Given the description of an element on the screen output the (x, y) to click on. 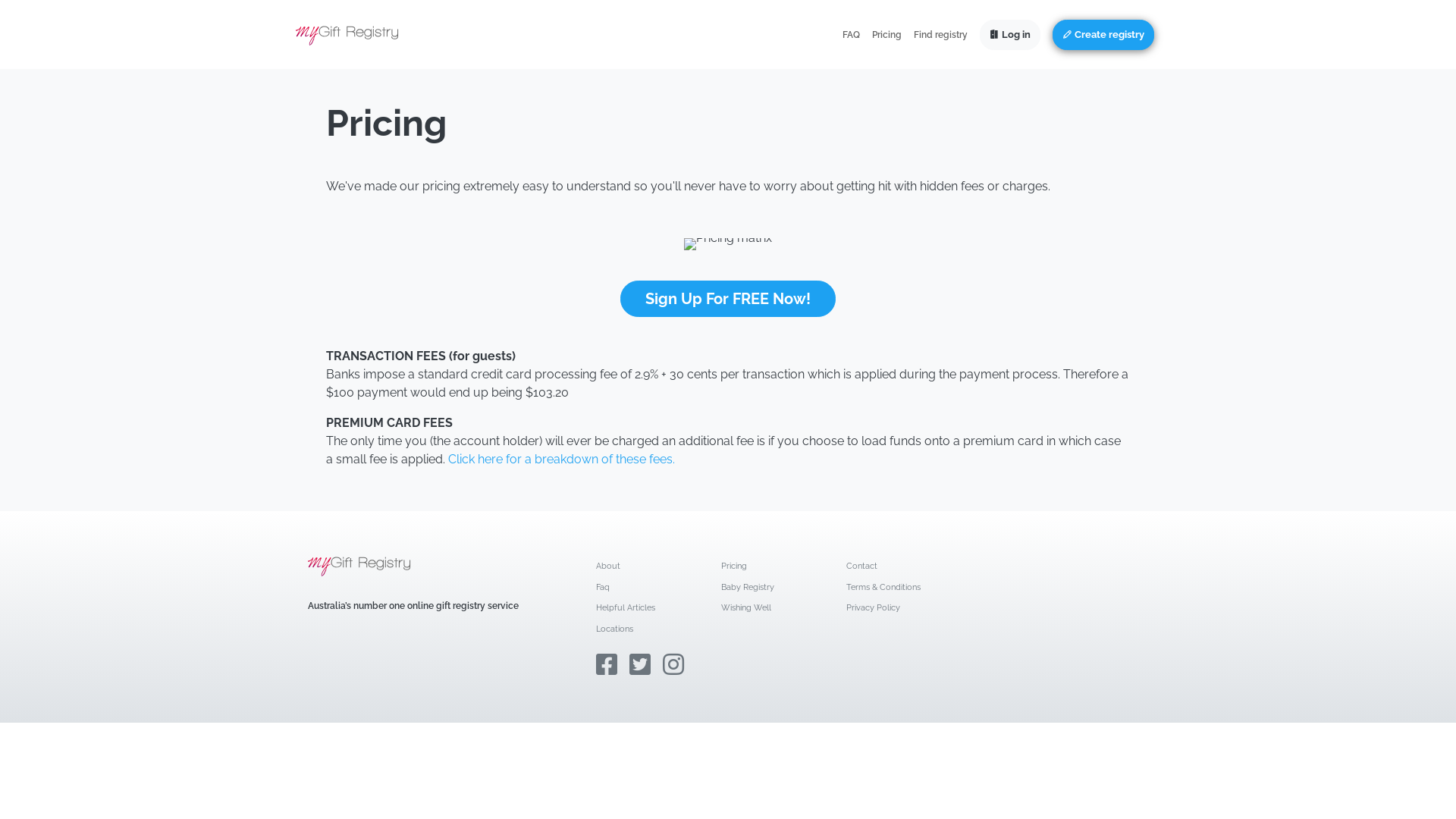
Join our Facebook page Element type: text (606, 664)
Create registry Element type: text (1103, 34)
Instagram Element type: text (673, 664)
About Element type: text (608, 566)
FAQ Element type: text (851, 34)
Baby Registry Element type: text (747, 587)
Follow us on Twitter Element type: text (639, 664)
Locations Element type: text (614, 628)
Click here for a breakdown of these fees. Element type: text (561, 458)
My Gift Registry Element type: text (346, 34)
Contact Element type: text (861, 566)
Sign Up For FREE Now! Element type: text (727, 298)
Pricing Element type: text (733, 566)
Find registry Element type: text (940, 34)
pricing-matrix Element type: hover (727, 244)
Log in Element type: text (1009, 34)
Helpful Articles Element type: text (625, 607)
Faq Element type: text (602, 587)
Pricing Element type: text (886, 34)
Terms & Conditions Element type: text (883, 587)
Privacy Policy Element type: text (873, 607)
Wishing Well Element type: text (746, 607)
